Given the description of an element on the screen output the (x, y) to click on. 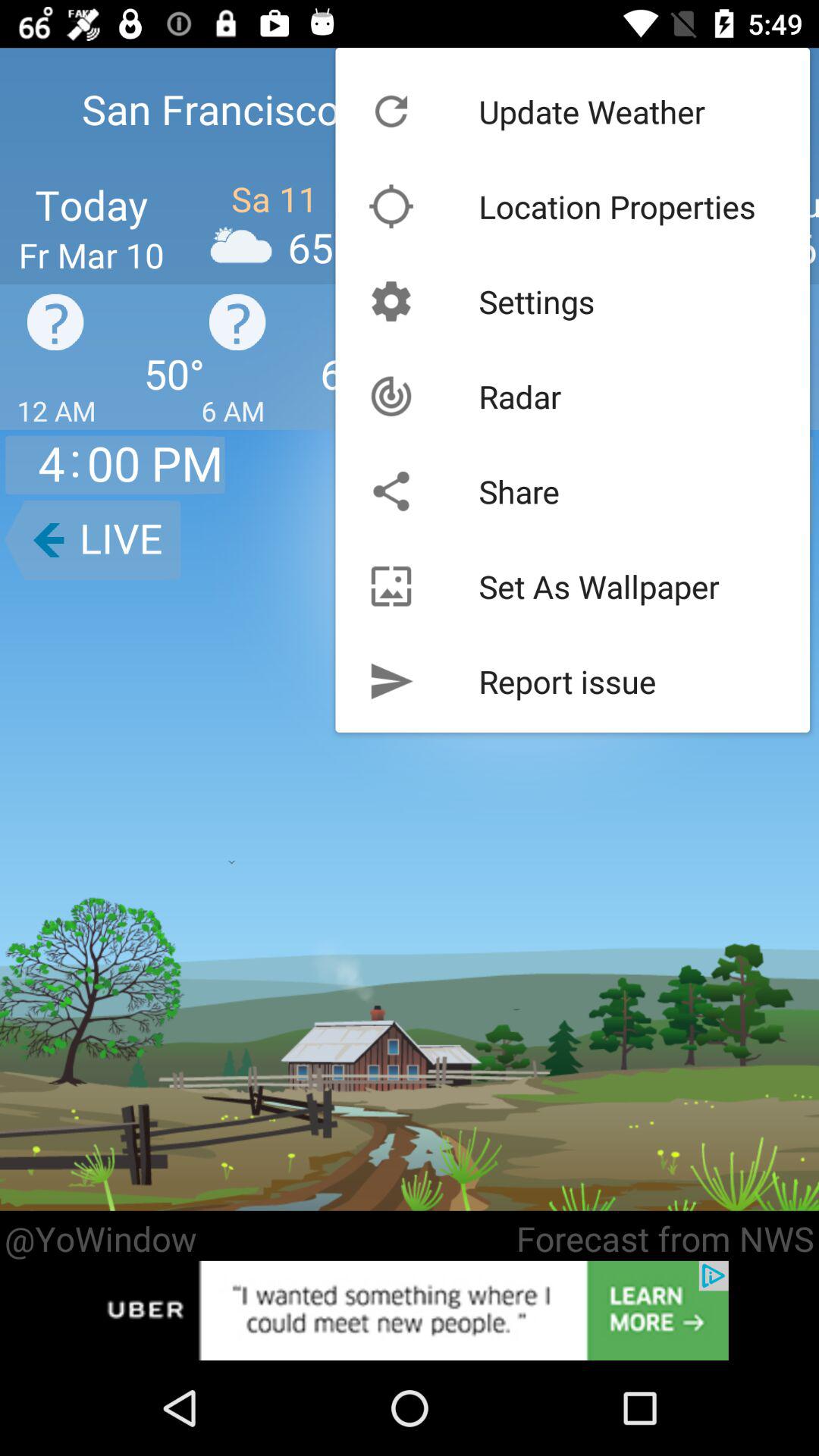
choose the location properties item (616, 206)
